Given the description of an element on the screen output the (x, y) to click on. 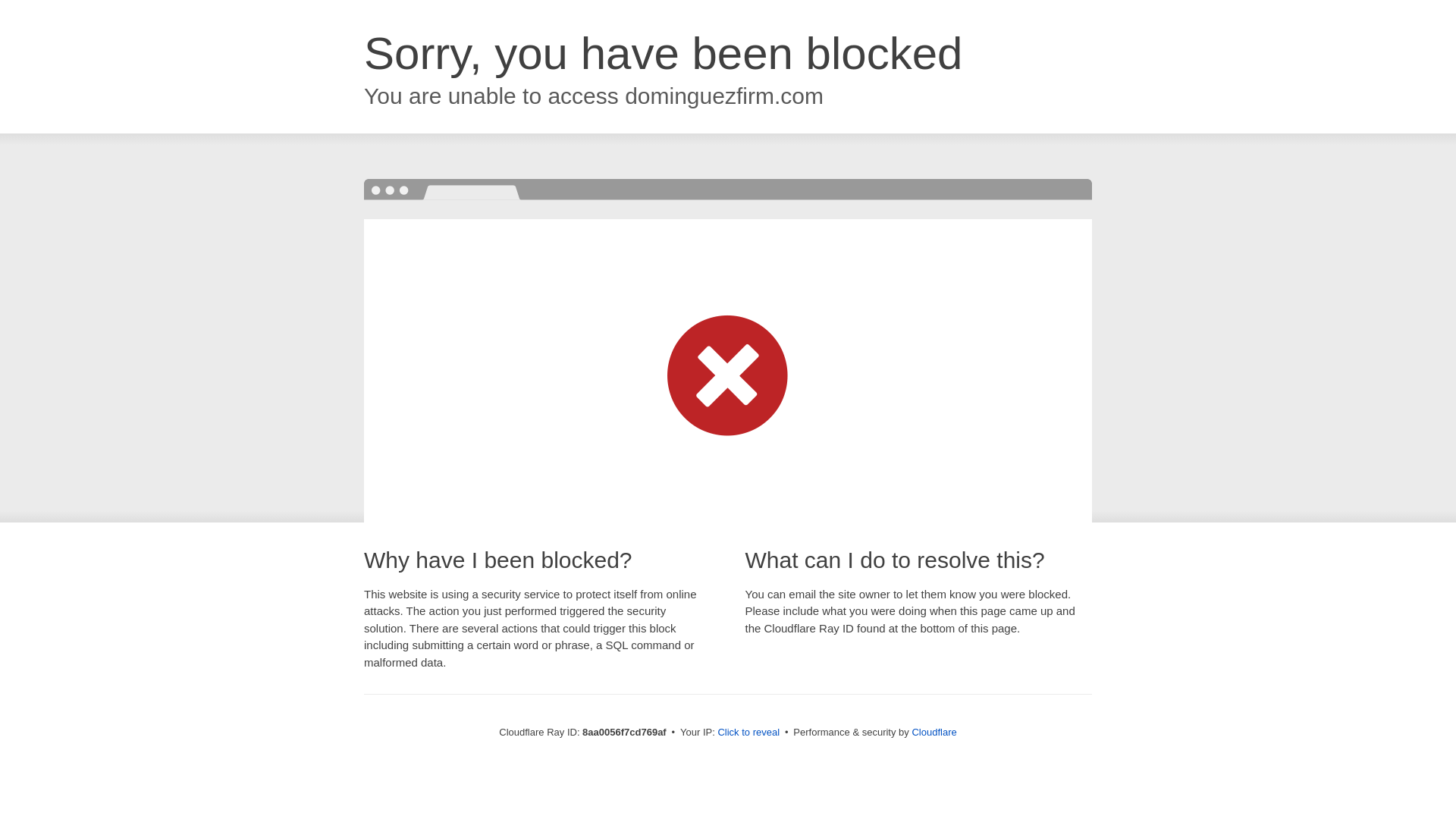
Cloudflare (933, 731)
Click to reveal (747, 732)
